Given the description of an element on the screen output the (x, y) to click on. 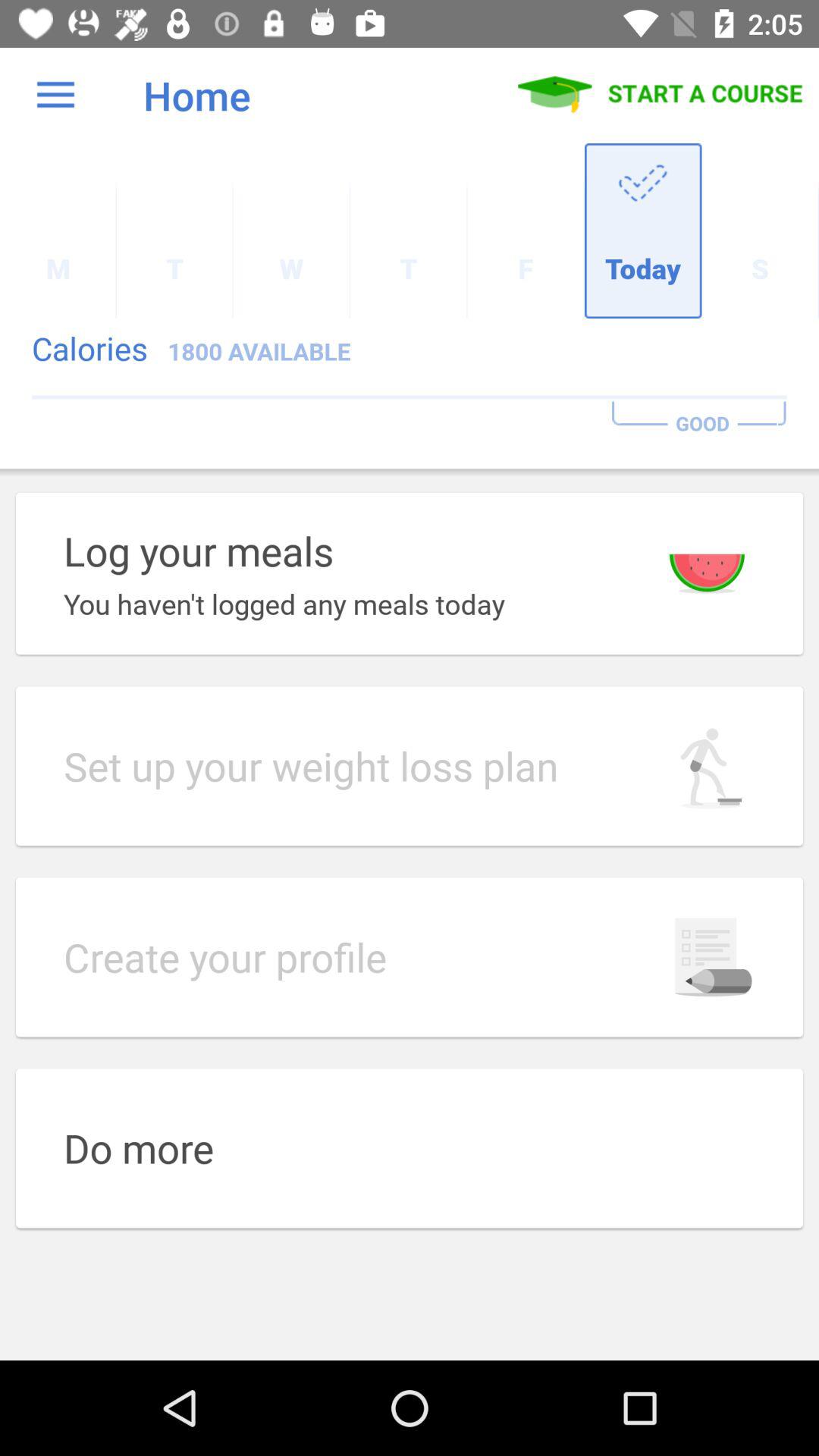
select the item next to home (55, 95)
